Given the description of an element on the screen output the (x, y) to click on. 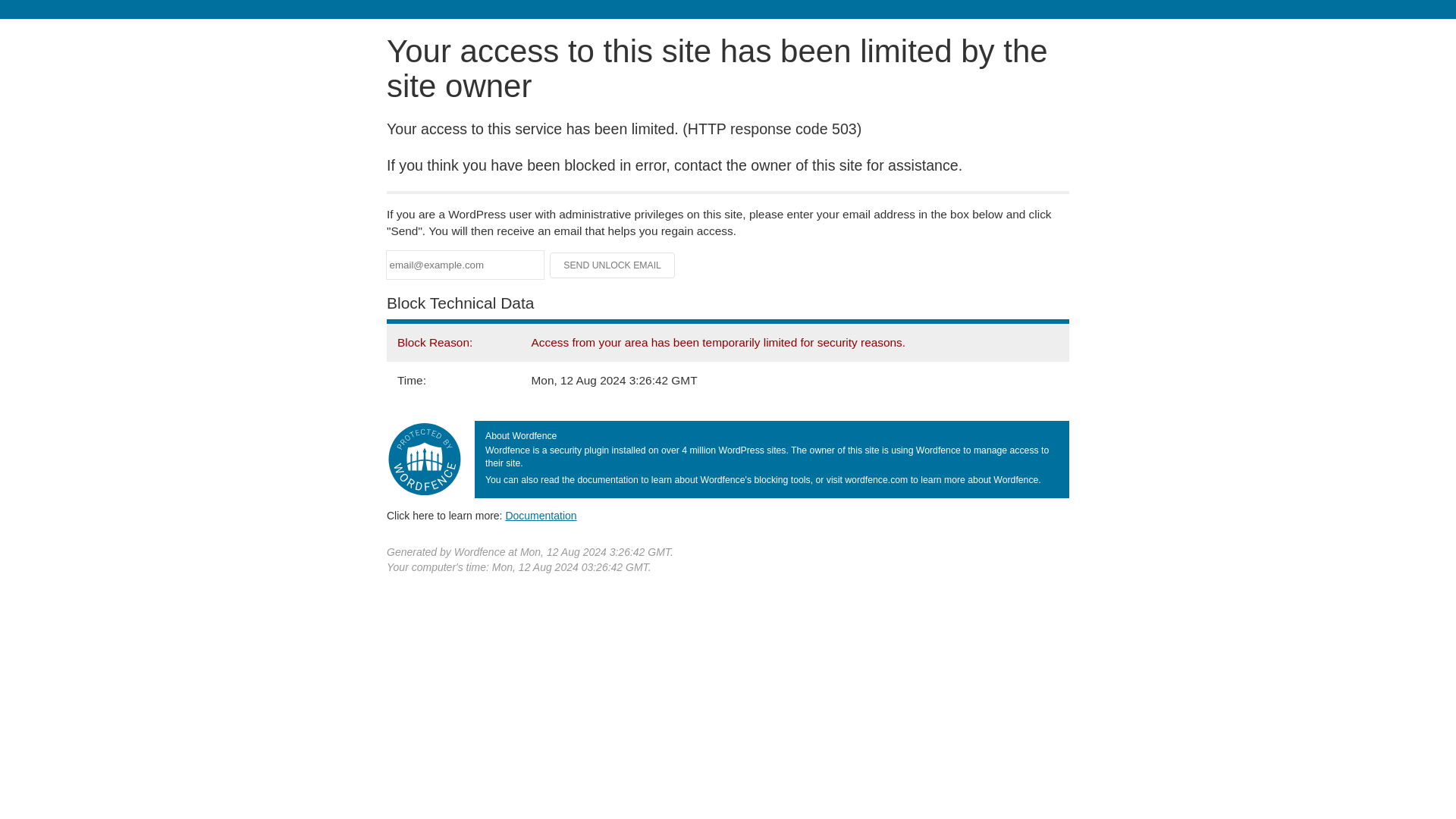
Documentation (540, 515)
Send Unlock Email (612, 265)
Send Unlock Email (612, 265)
